Given the description of an element on the screen output the (x, y) to click on. 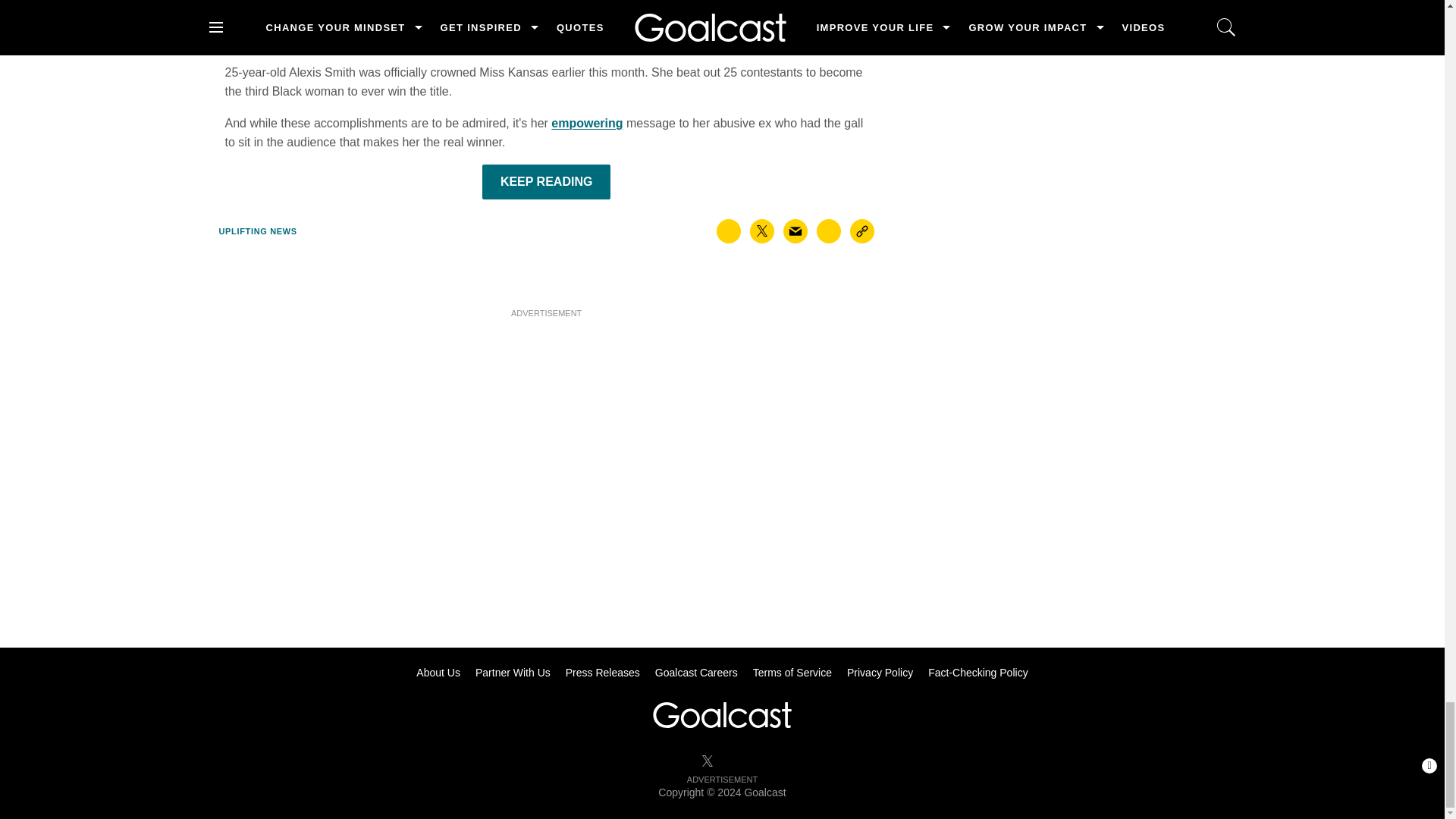
Copy this link to clipboard (862, 231)
